Given the description of an element on the screen output the (x, y) to click on. 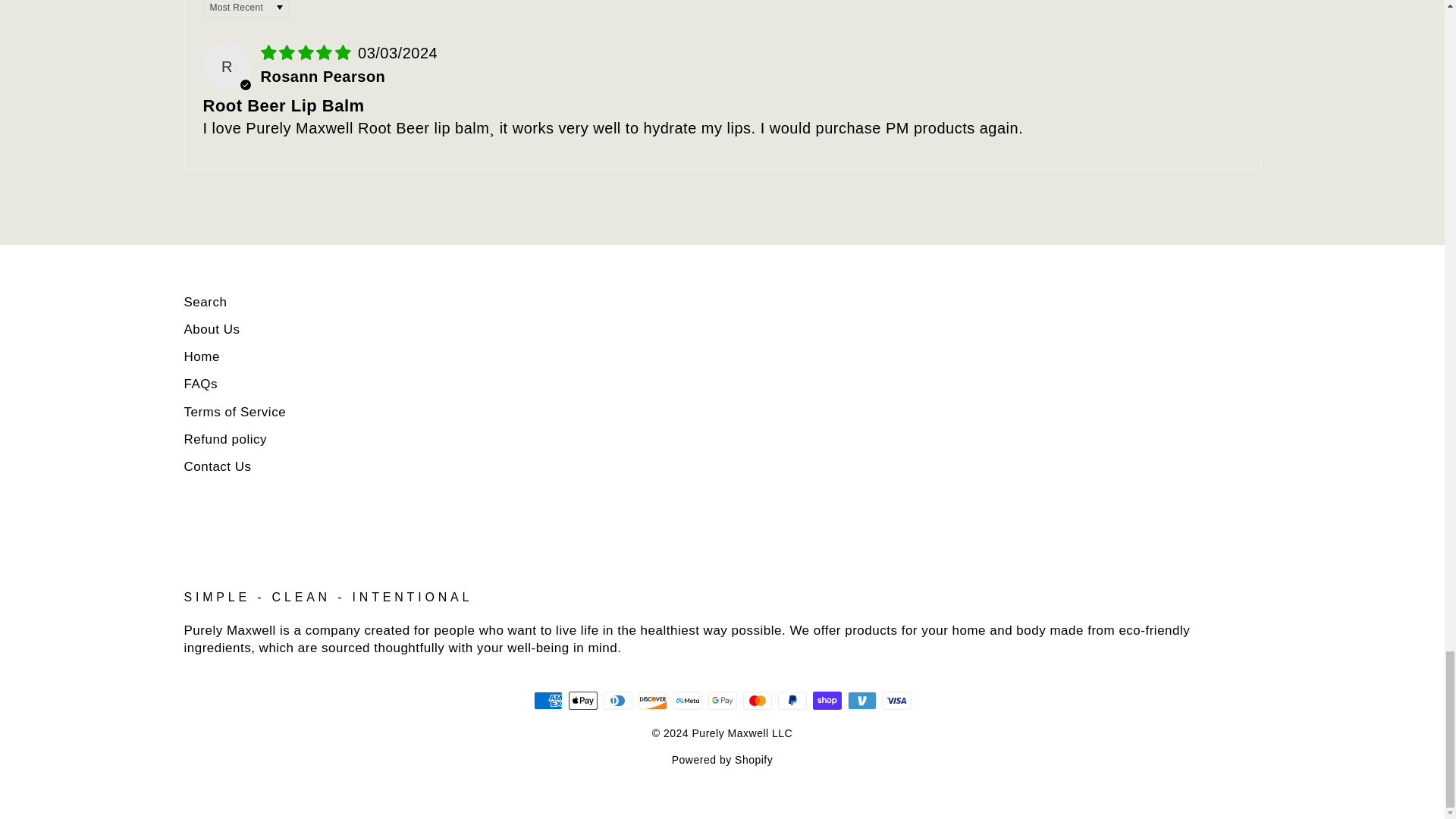
Google Pay (721, 700)
Apple Pay (582, 700)
Diners Club (617, 700)
Meta Pay (686, 700)
Mastercard (756, 700)
American Express (548, 700)
Discover (652, 700)
